Given the description of an element on the screen output the (x, y) to click on. 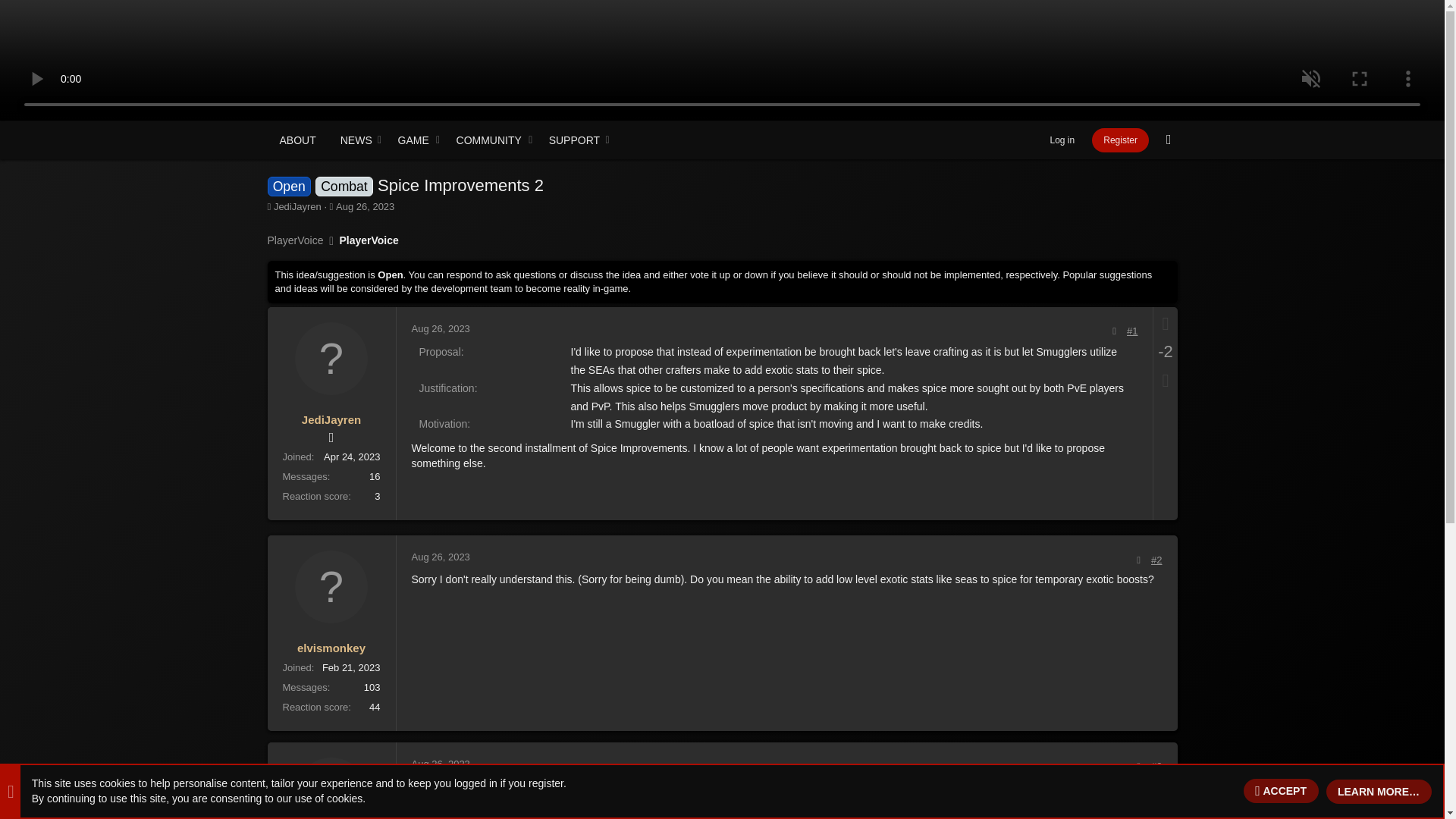
Aug 26, 2023 at 10:46 PM (365, 206)
Thread starter (268, 206)
Log in (1061, 140)
Aug 26, 2023 at 11:38 PM (439, 763)
NEWS (439, 157)
GAME (351, 140)
Search (414, 140)
Aug 26, 2023 at 10:46 PM (1168, 139)
Aug 26, 2023 at 11:37 PM (439, 328)
Register (439, 556)
SUPPORT (1120, 140)
COMMUNITY (439, 139)
